Given the description of an element on the screen output the (x, y) to click on. 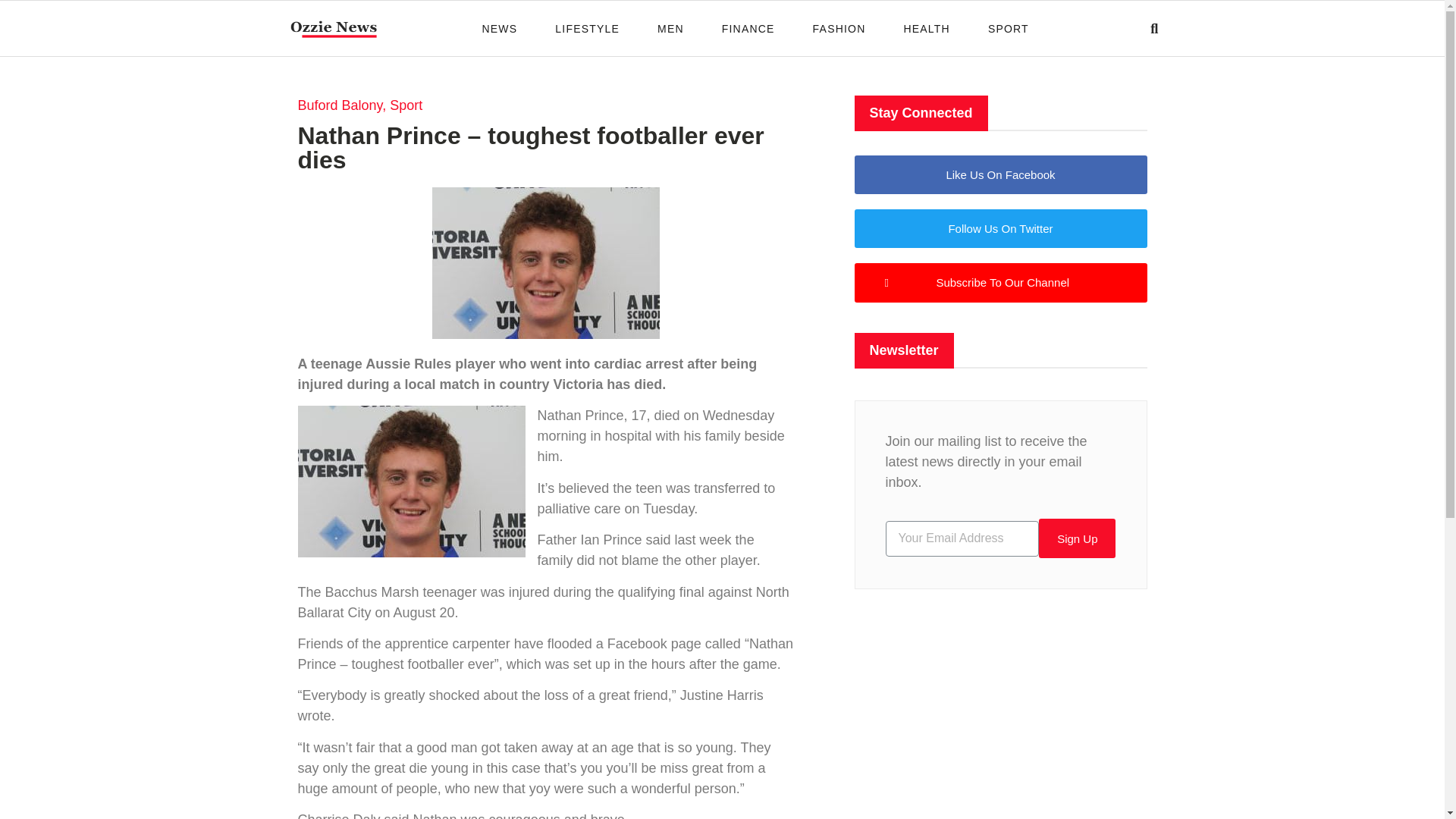
Follow Us On Twitter (1000, 228)
Buford Balony (339, 105)
HEALTH (925, 27)
FINANCE (748, 27)
Nathan Prince - toughest footballer ever (410, 481)
NEWS (499, 27)
Sport (406, 105)
FASHION (839, 27)
SPORT (1008, 27)
LIFESTYLE (587, 27)
